Given the description of an element on the screen output the (x, y) to click on. 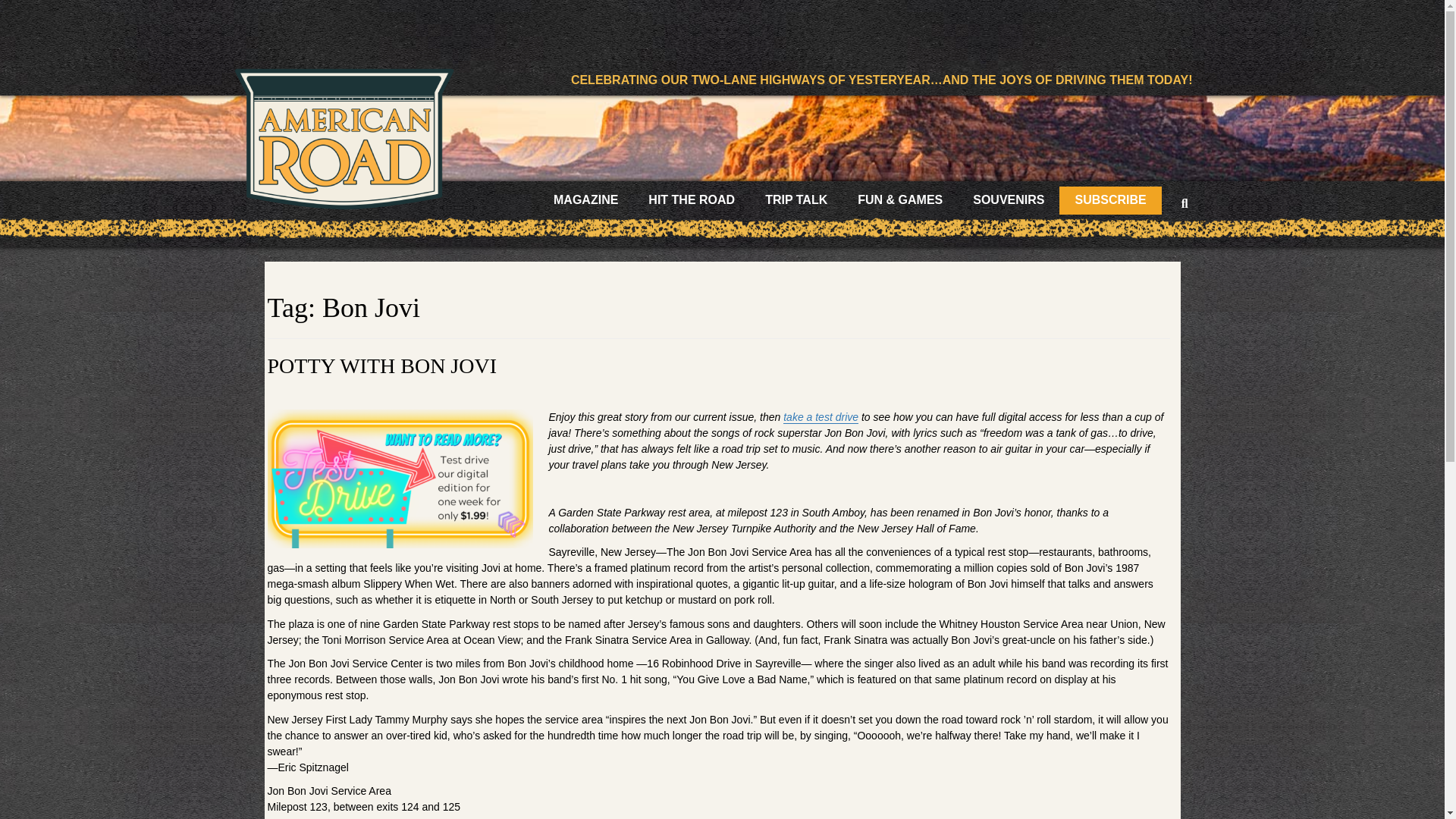
POTTY WITH BON JOVI (381, 365)
take a test drive (821, 417)
SOUVENIRS (1008, 200)
HIT THE ROAD (691, 200)
TRIP TALK (796, 200)
MAGAZINE (585, 200)
SUBSCRIBE (1109, 200)
